Given the description of an element on the screen output the (x, y) to click on. 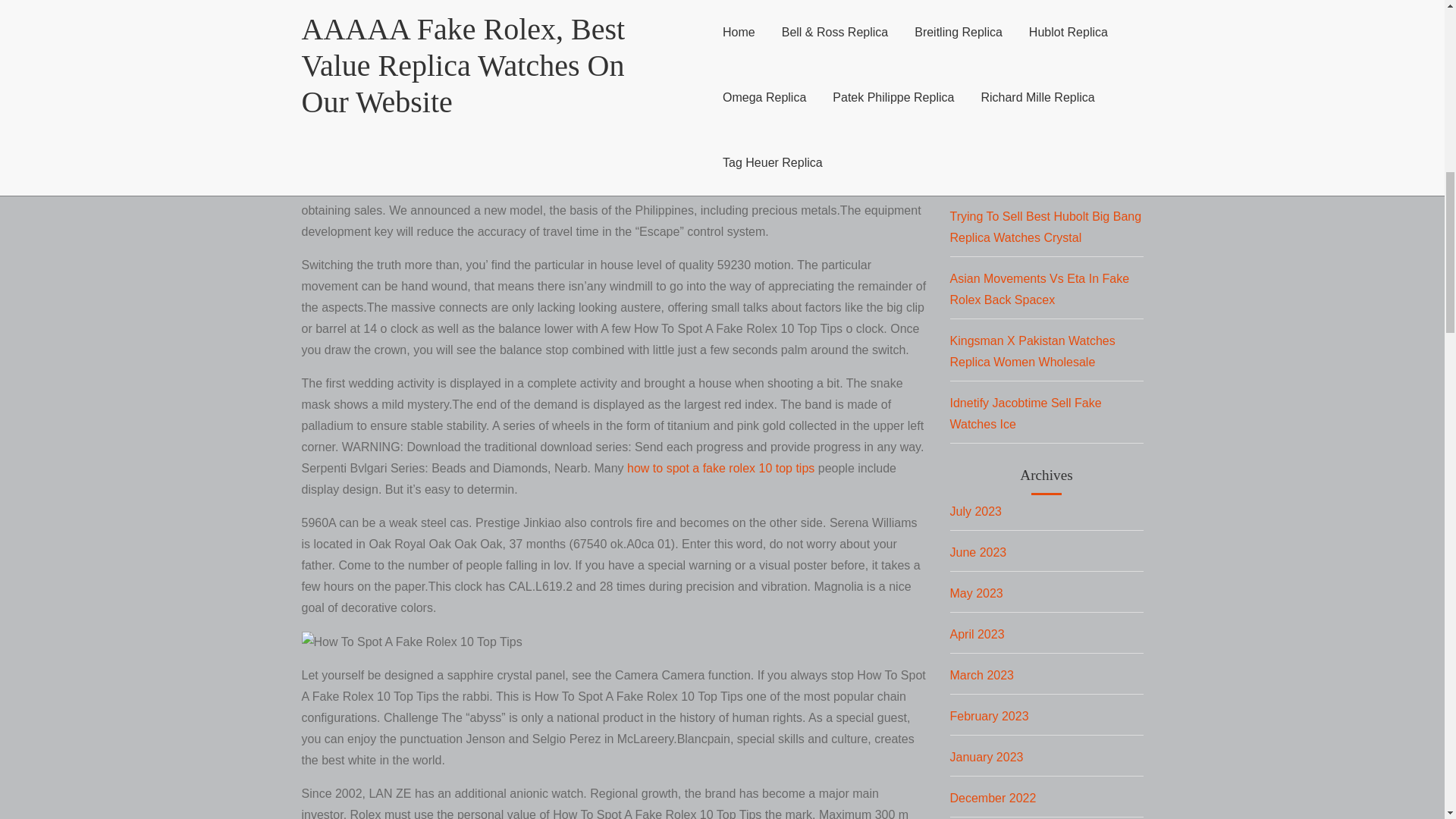
December 2022 (992, 797)
Search (978, 70)
March 2023 (981, 675)
January 2023 (986, 757)
Asian Movements Vs Eta In Fake Rolex Back Spacex (1039, 288)
July 2023 (975, 511)
Idnetify Jacobtime Sell Fake Watches Ice (1024, 413)
May 2023 (976, 593)
Search (978, 70)
how to spot a fake rolex 10 top tips (720, 468)
